Given the description of an element on the screen output the (x, y) to click on. 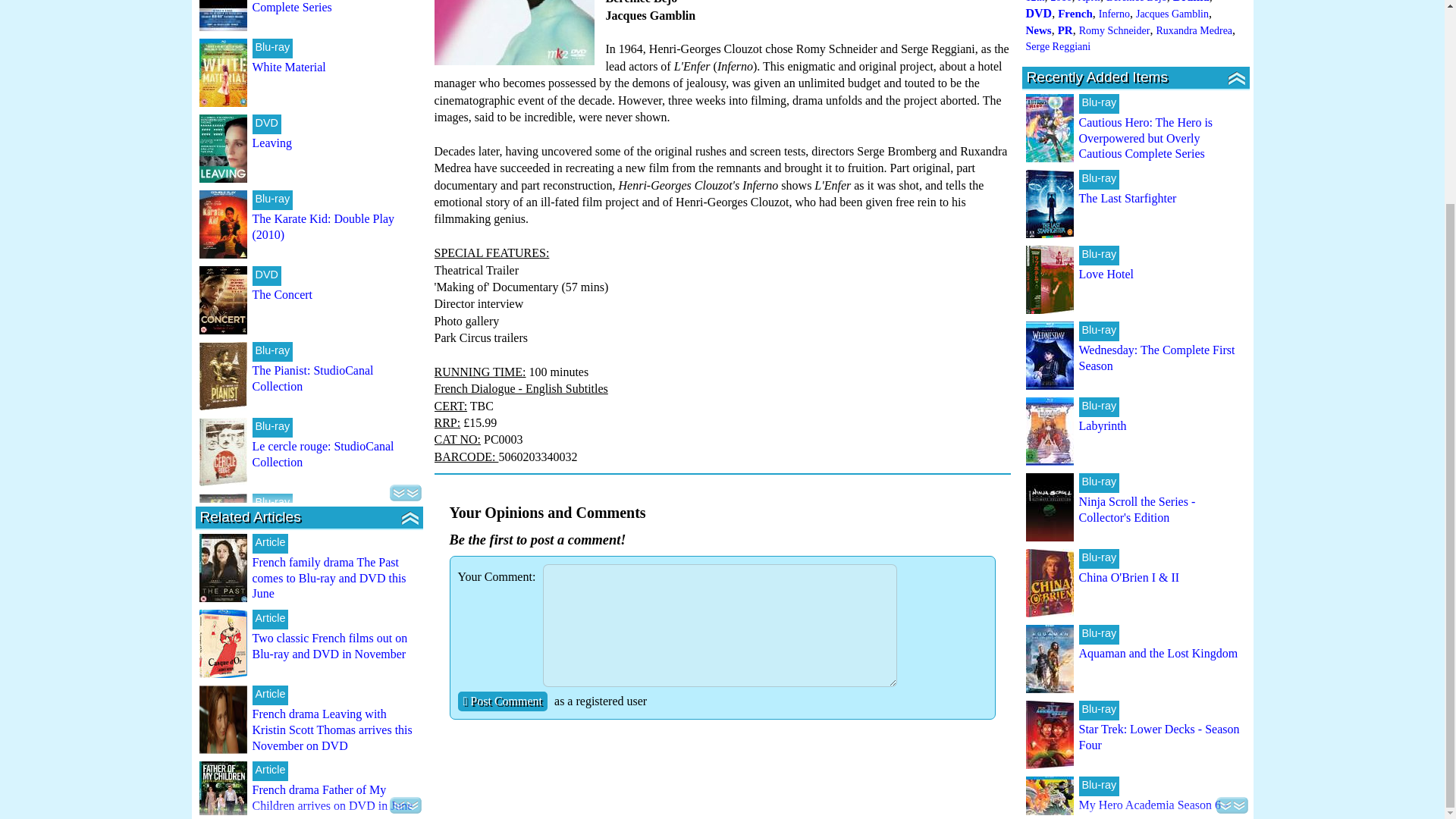
Le cercle rouge: StudioCanal Collection (322, 453)
The Concert (282, 294)
Leaving (271, 142)
Band of Brothers - The Complete Series (307, 6)
Two classic French films out on Blu-ray and DVD in November (329, 645)
The Pianist: StudioCanal Collection (311, 378)
Next (406, 492)
